Given the description of an element on the screen output the (x, y) to click on. 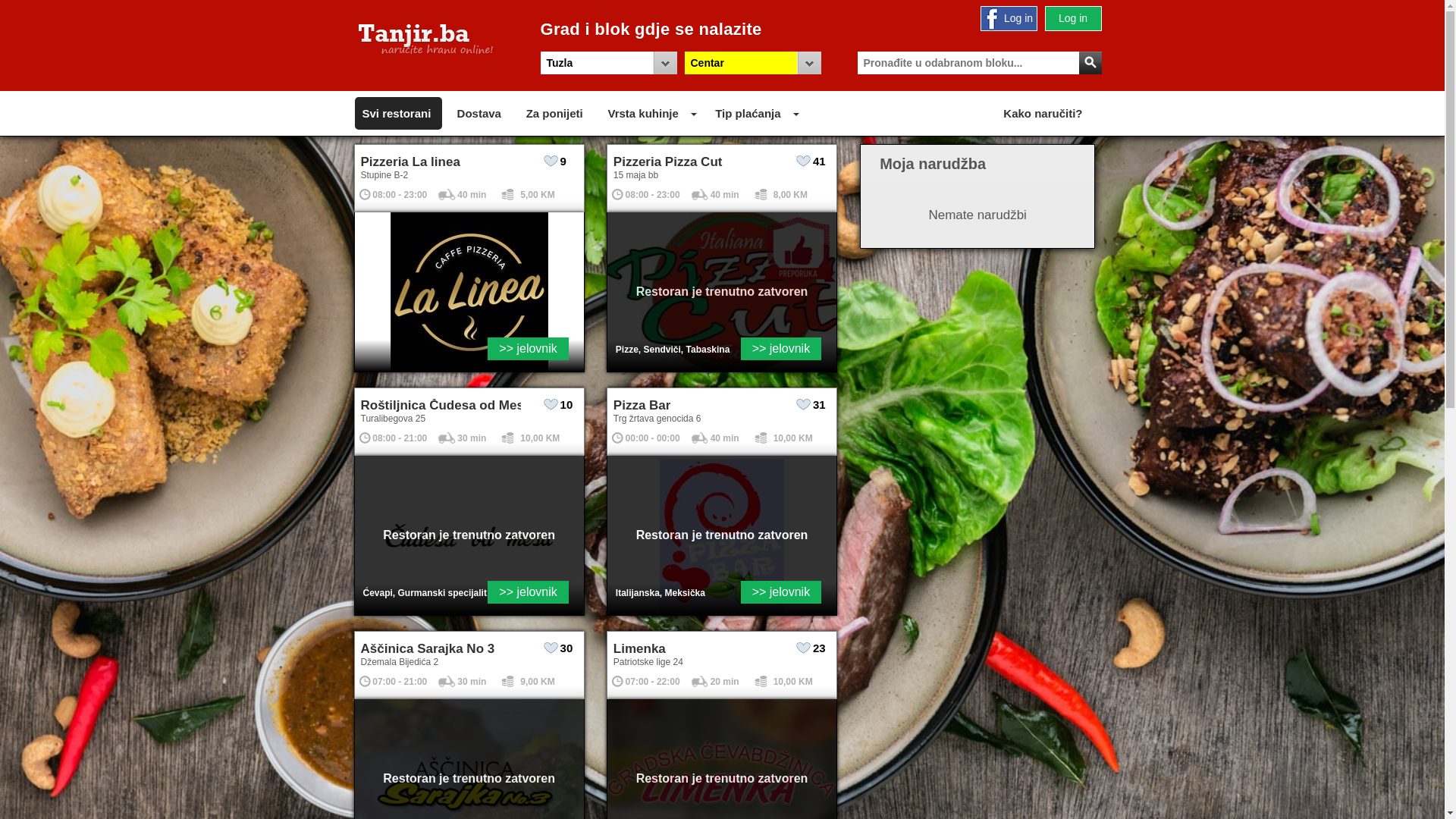
Vrijeme dostave restorana Element type: hover (617, 194)
Oznaka za restorane koje zelimo prve istaknuti Element type: hover (798, 250)
Vrijeme isporuke restorana Element type: hover (446, 681)
Restoran: Limenkaje postavljen kao favorit kod: 23 korisnika Element type: hover (803, 647)
Npr. Pizza Element type: hover (976, 62)
Dostava Element type: text (478, 113)
Vrijeme dostave restorana Element type: hover (364, 437)
Vrijeme isporuke restorana Element type: hover (446, 437)
Vrijeme dostave restorana Element type: hover (364, 194)
Vrijeme isporuke restorana Element type: hover (700, 194)
Vrijeme dostave restorana Element type: hover (617, 437)
Vrijeme dostave restorana Element type: hover (364, 681)
Vrijeme dostave restorana Element type: hover (617, 681)
Log in Element type: text (1007, 18)
Vrijeme isporuke restorana Element type: hover (700, 437)
Vrsta kuhinje Element type: text (642, 113)
Tanjir.ba Element type: text (425, 40)
Za ponijeti Element type: text (554, 113)
Svi restorani Element type: text (396, 113)
Vrijeme isporuke restorana Element type: hover (446, 194)
Log in Element type: text (1072, 17)
Vrijeme isporuke restorana Element type: hover (700, 681)
